Given the description of an element on the screen output the (x, y) to click on. 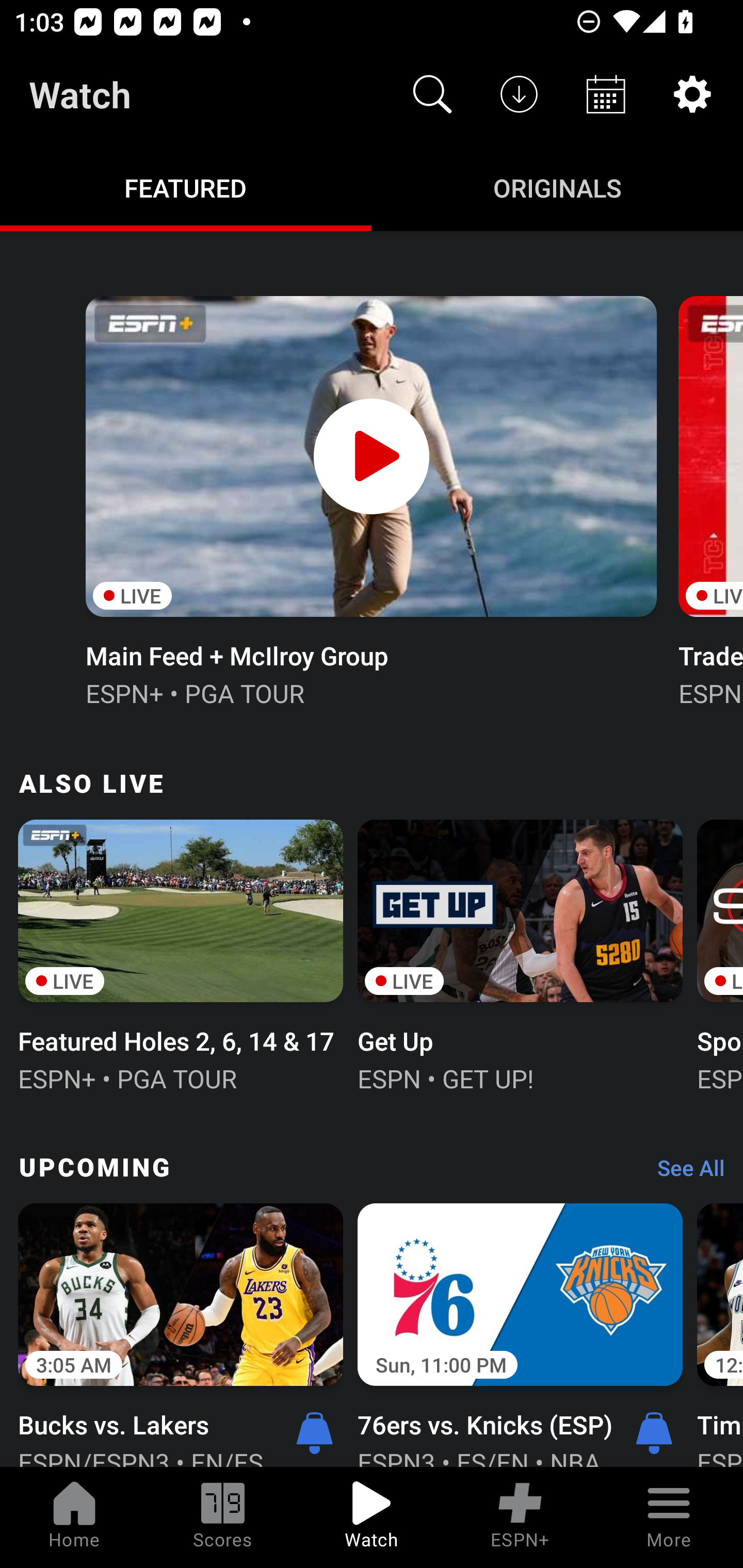
Search (432, 93)
Downloads (518, 93)
Schedule (605, 93)
Settings (692, 93)
Originals ORIGINALS (557, 187)
 LIVE Main Feed + McIlroy Group ESPN+ • PGA TOUR (370, 499)
LIVE Featured Holes 2, 6, 14 & 17 ESPN+ • PGA TOUR (180, 954)
LIVE Get Up ESPN • GET UP! (519, 954)
See All (683, 1172)
Home (74, 1517)
Scores (222, 1517)
ESPN+ (519, 1517)
More (668, 1517)
